Given the description of an element on the screen output the (x, y) to click on. 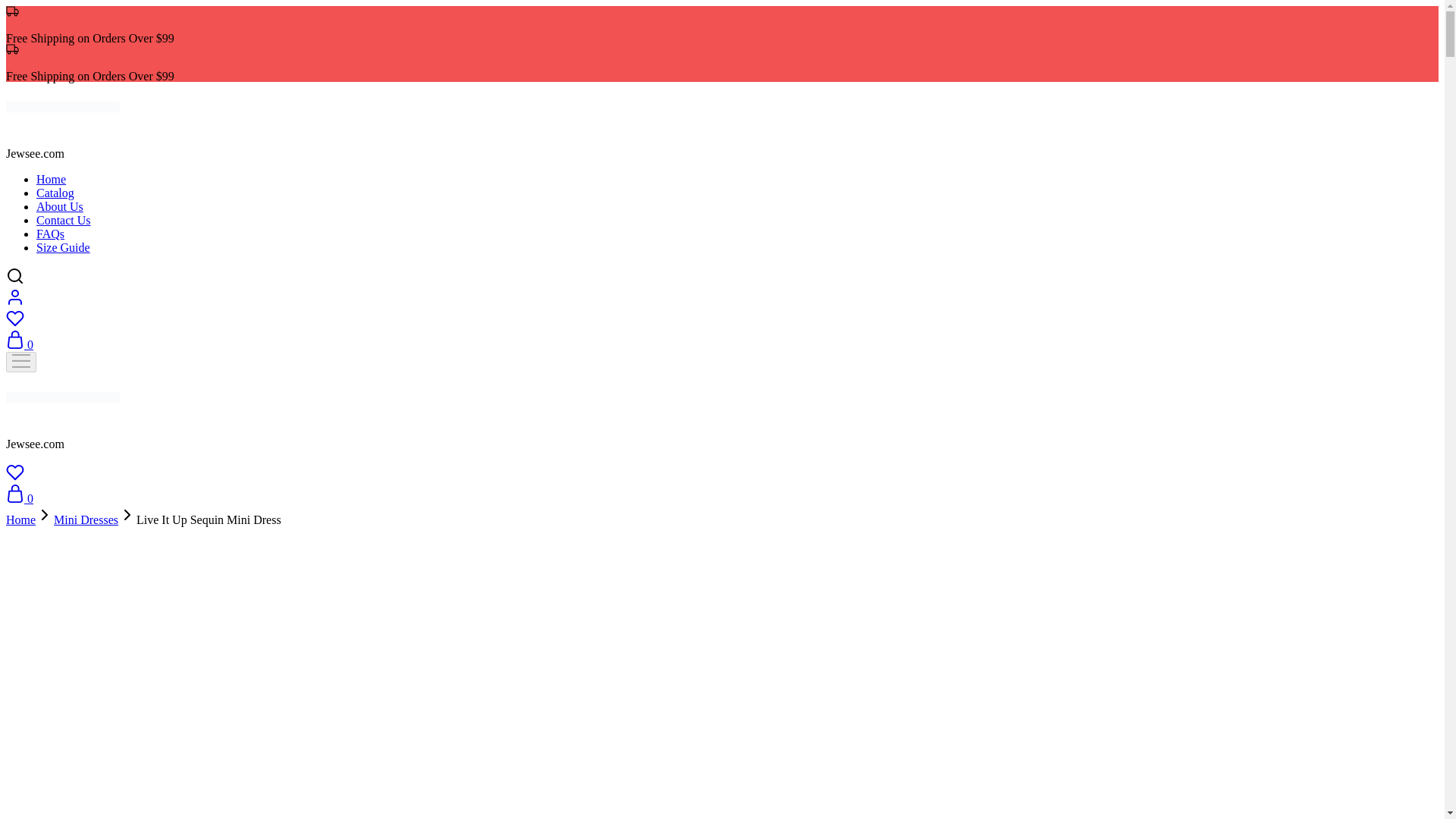
About Us (59, 205)
FAQs (50, 233)
Contact Us (63, 219)
Home (50, 178)
0 (19, 344)
0 (19, 498)
Size Guide (63, 246)
Mini Dresses (85, 519)
Home (19, 519)
Catalog (55, 192)
